Given the description of an element on the screen output the (x, y) to click on. 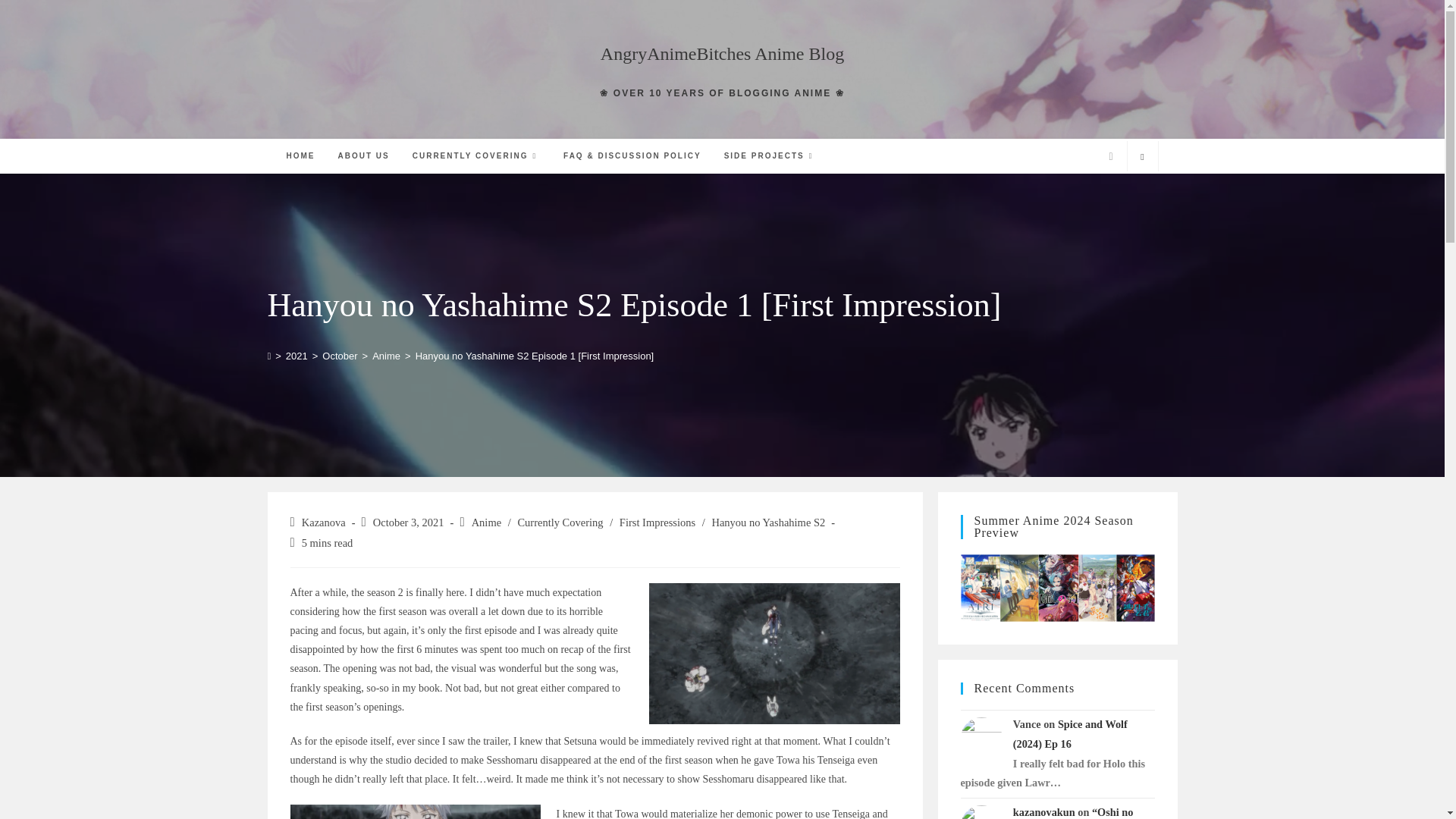
Anime (386, 355)
HOME (300, 155)
CURRENTLY COVERING (476, 155)
2021 (296, 355)
Posts by Kazanova (323, 522)
ABOUT US (363, 155)
October (338, 355)
SIDE PROJECTS (770, 155)
AngryAnimeBitches Anime Blog (721, 53)
